Given the description of an element on the screen output the (x, y) to click on. 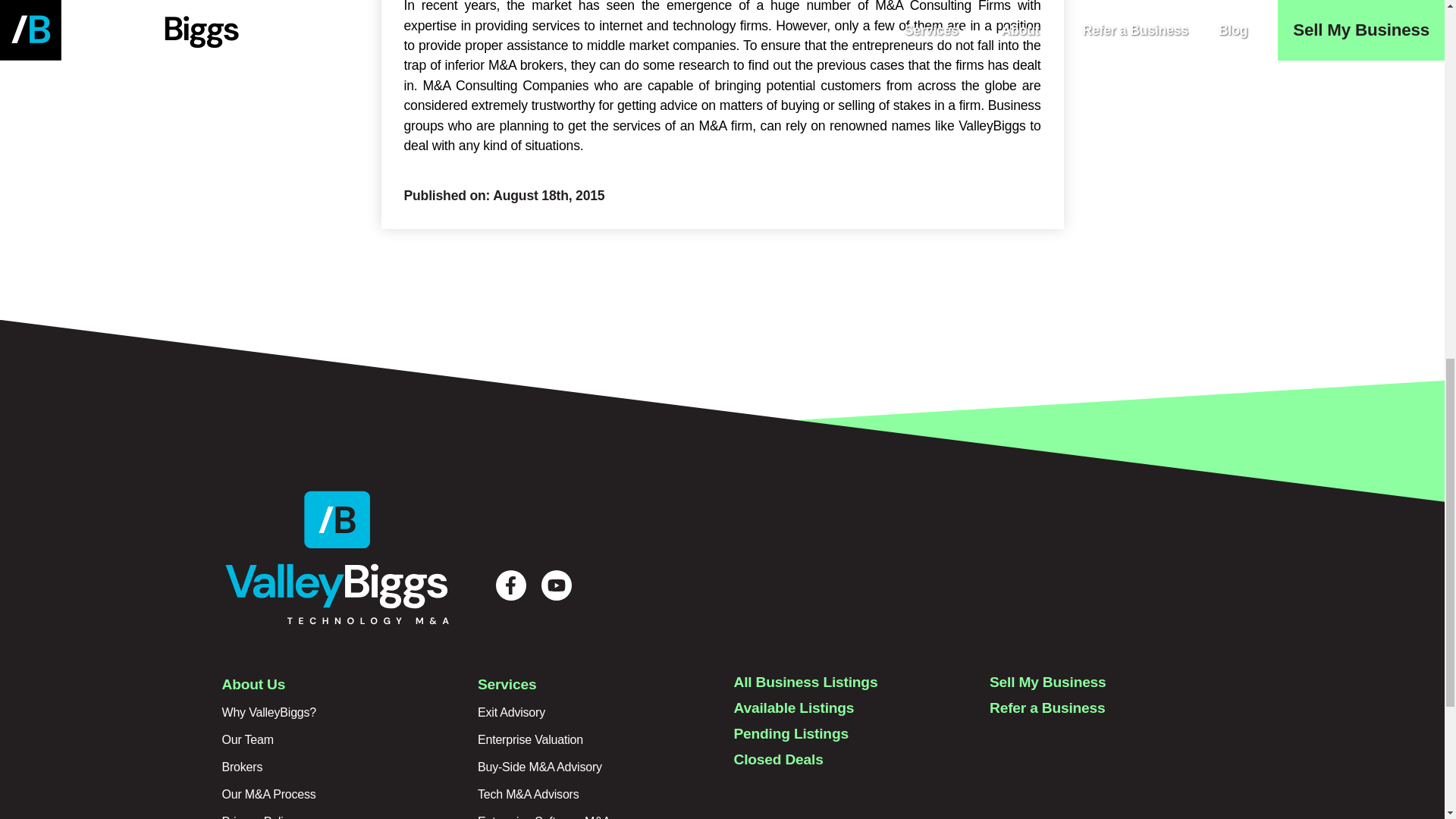
Available Listings (793, 707)
Brokers (241, 766)
Enterprise Valuation (530, 739)
Our Team (247, 739)
All Business Listings (805, 682)
Why ValleyBiggs? (268, 712)
Privacy Policy (258, 816)
Exit Advisory (510, 712)
